Given the description of an element on the screen output the (x, y) to click on. 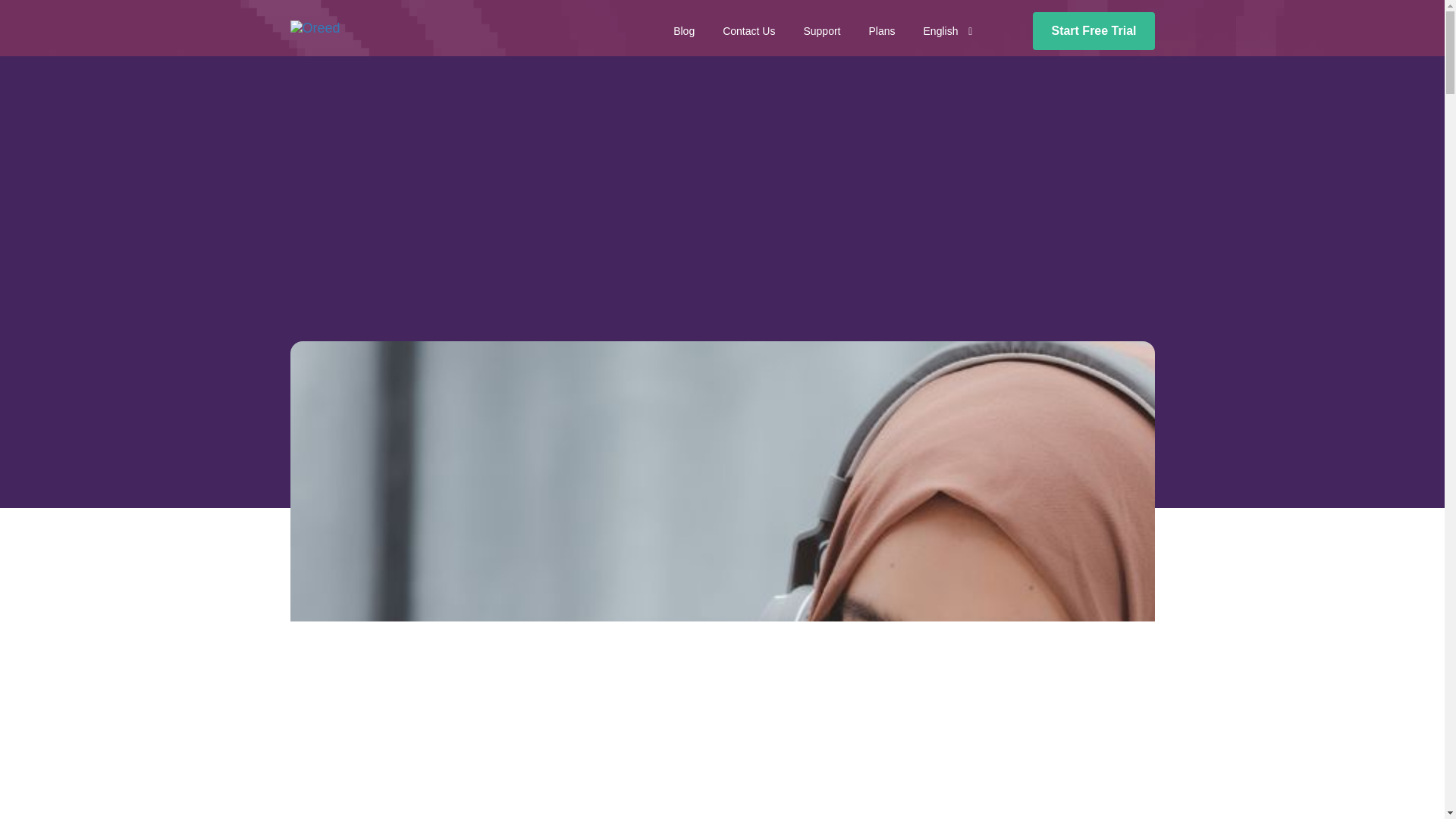
Start Free Trial (1093, 30)
English (947, 30)
Support (821, 30)
Contact Us (748, 30)
Plans (881, 30)
Blog (683, 30)
